Given the description of an element on the screen output the (x, y) to click on. 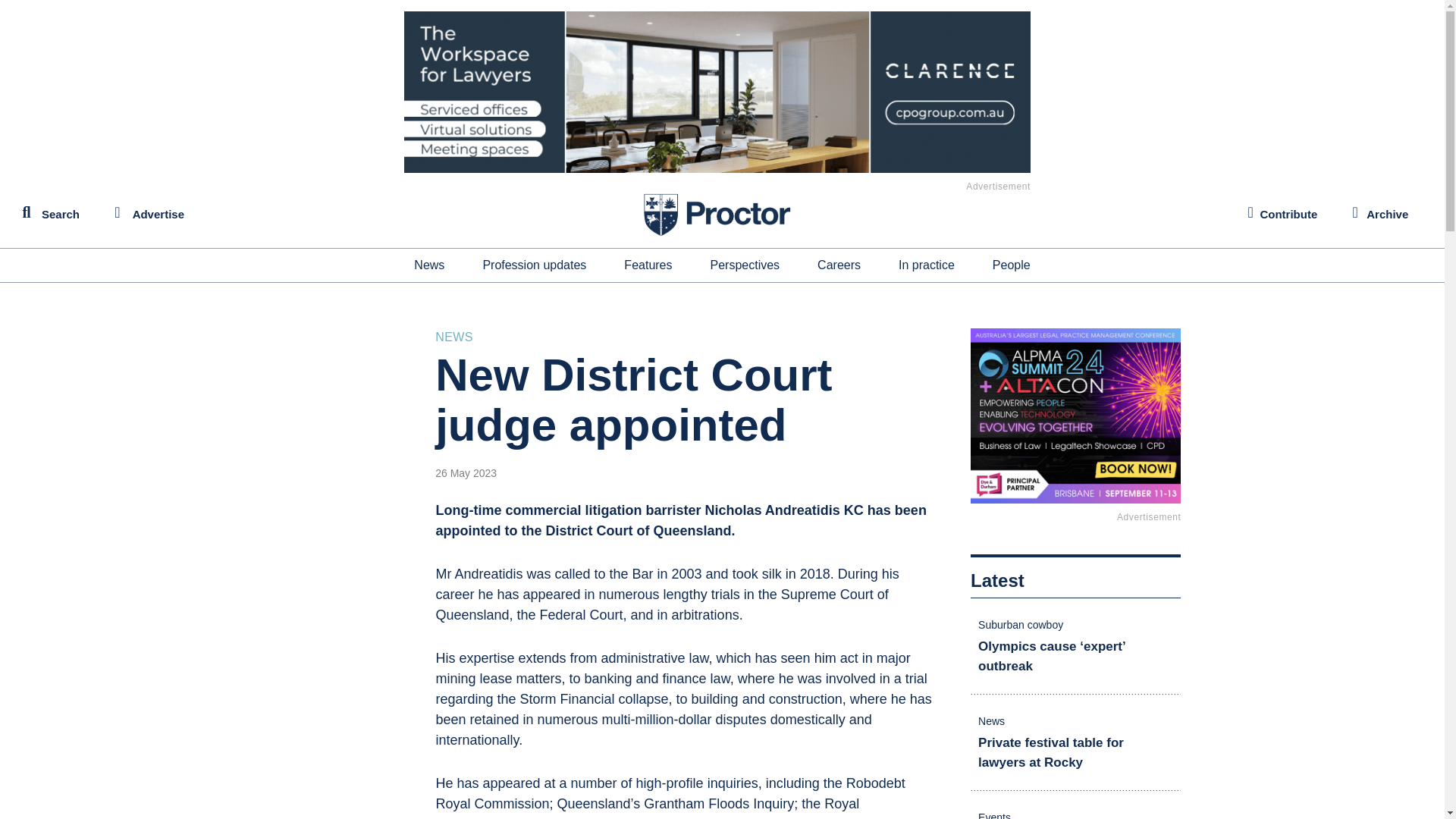
Profession updates (534, 264)
People (1011, 264)
In practice (926, 264)
Features (647, 264)
Perspectives (745, 264)
Careers (838, 264)
News (428, 264)
